Given the description of an element on the screen output the (x, y) to click on. 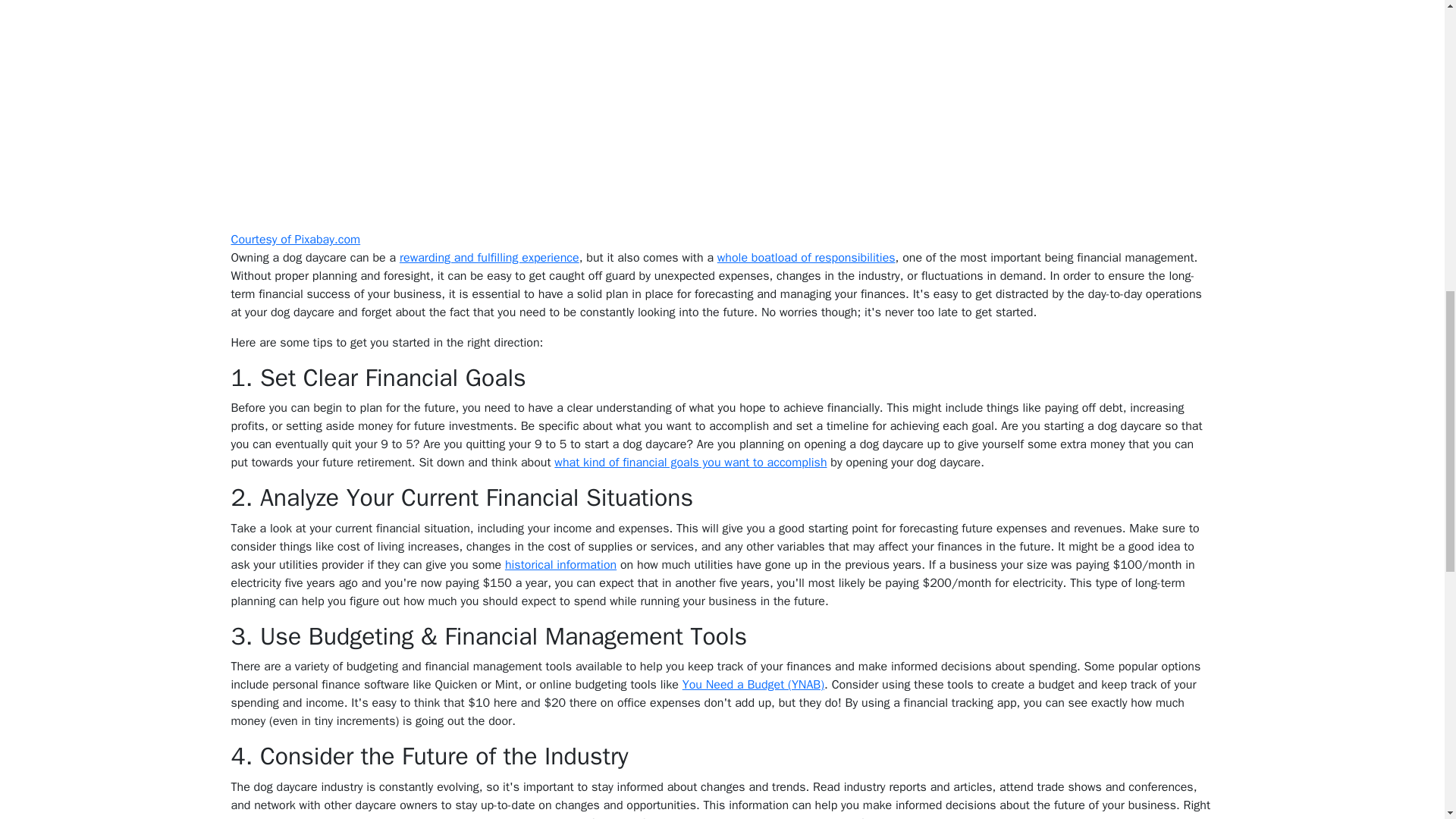
what kind of financial goals you want to accomplish (690, 462)
the dog daycare industry is booming (354, 817)
Courtesy of Pixabay.com (294, 239)
whole boatload of responsibilities (806, 257)
historical information (560, 564)
rewarding and fulfilling experience (488, 257)
